Given the description of an element on the screen output the (x, y) to click on. 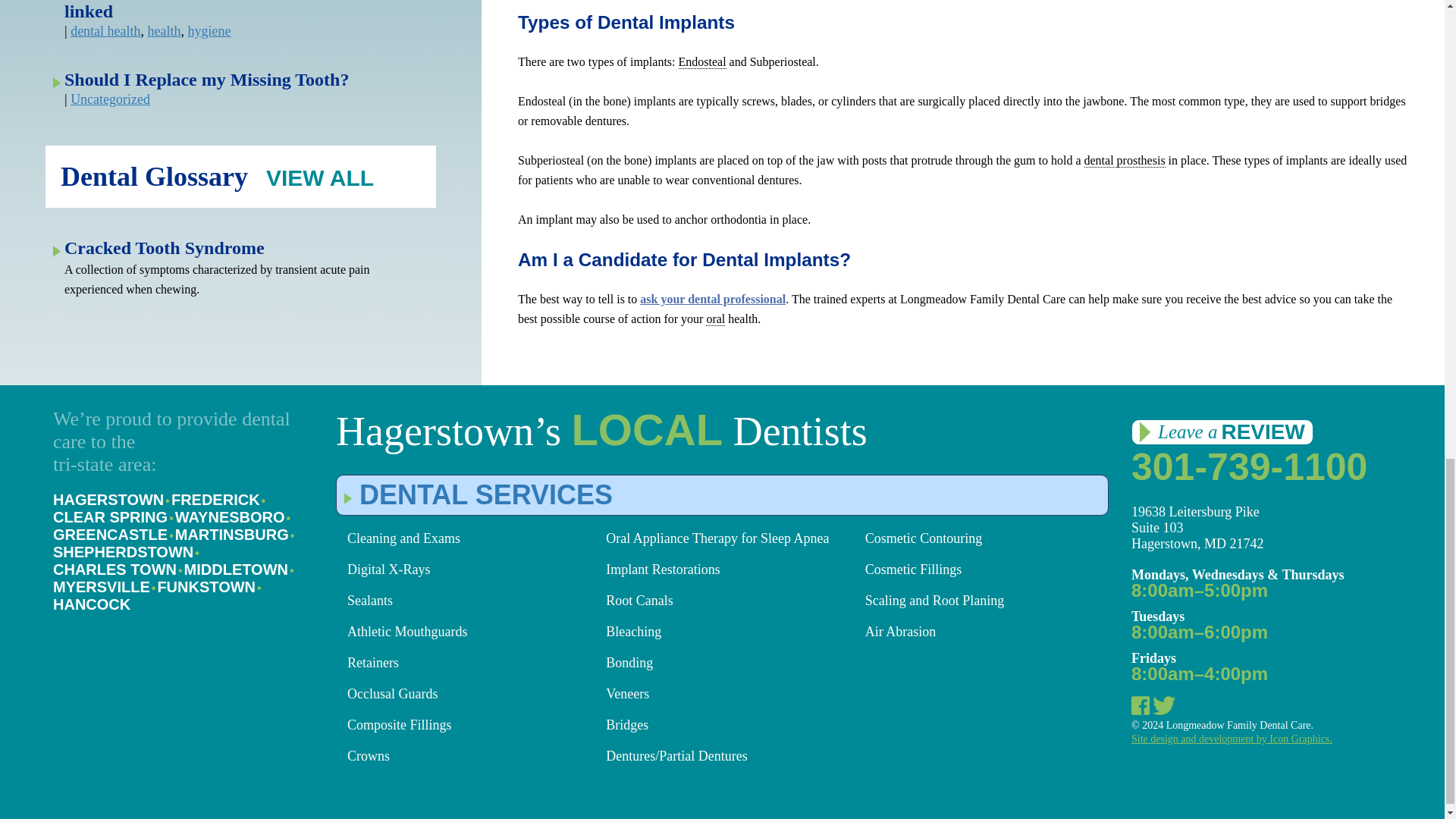
How your oral health and overall health are linked (234, 10)
dental health (104, 30)
Endosteal (701, 61)
health (164, 30)
hygiene (209, 30)
ask your dental professional (713, 298)
oral (715, 318)
dental prosthesis (1125, 160)
